Given the description of an element on the screen output the (x, y) to click on. 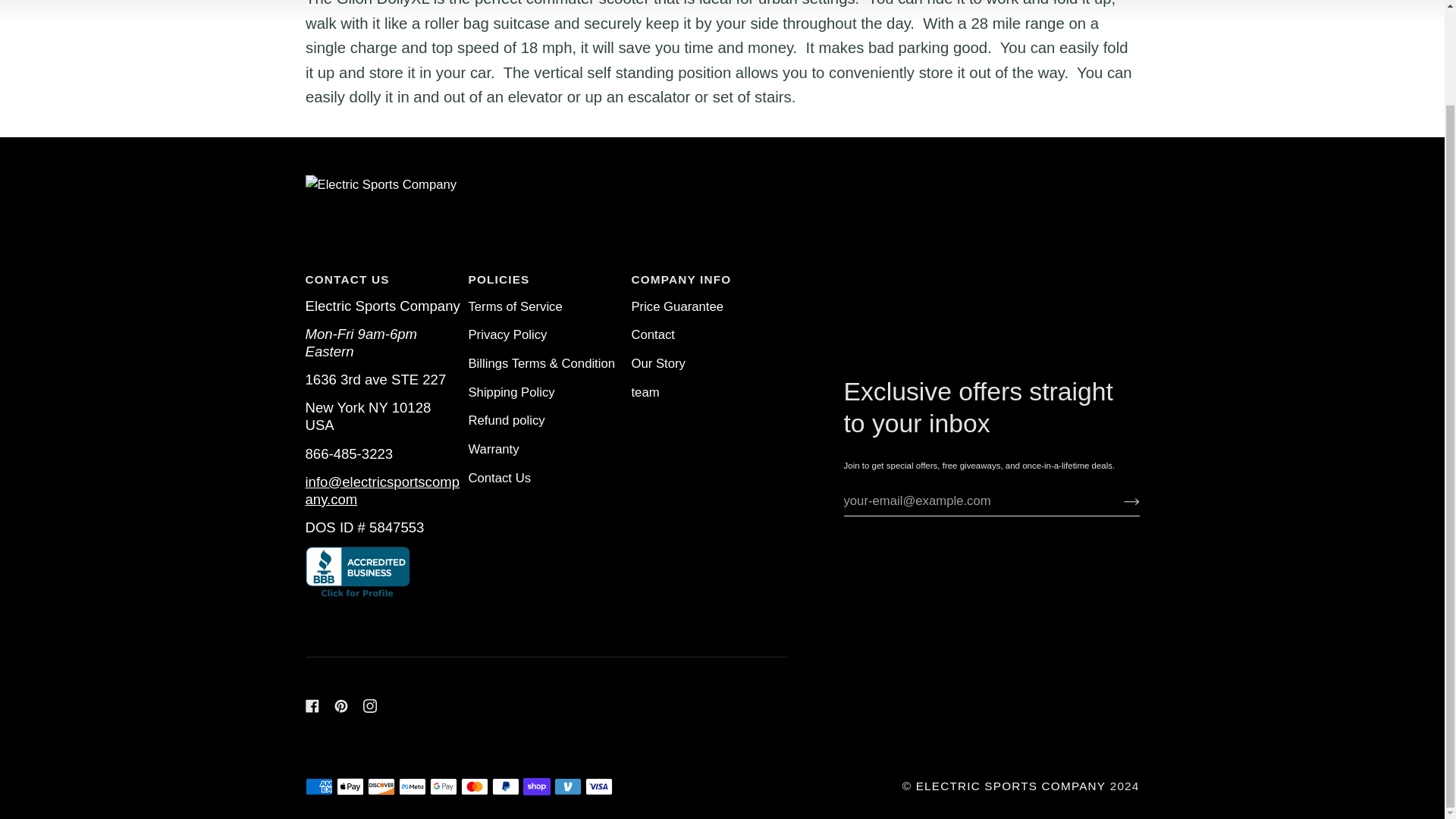
APPLE PAY (350, 786)
MASTERCARD (474, 786)
SHOP PAY (536, 786)
GOOGLE PAY (443, 786)
VENMO (566, 786)
DISCOVER (380, 786)
Pinterest (340, 705)
PAYPAL (505, 786)
VISA (598, 786)
Instagram (368, 705)
Facebook (311, 705)
META PAY (412, 786)
AMERICAN EXPRESS (317, 786)
